Given the description of an element on the screen output the (x, y) to click on. 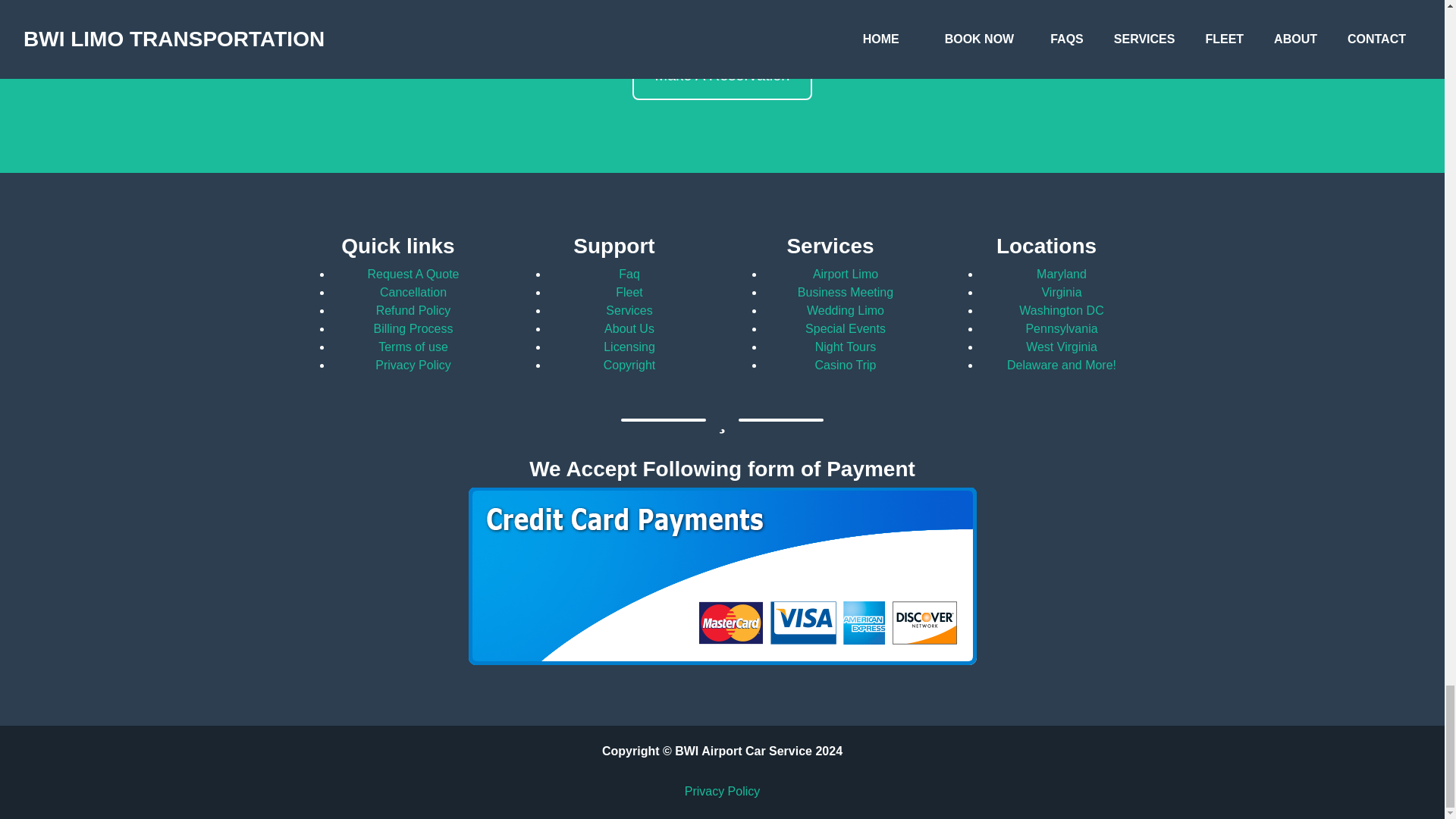
Make A Reservation (721, 74)
BWI Airport Limousine (717, 9)
Transportation DE to BWI (1016, 9)
Transportation from BWI (436, 9)
